Given the description of an element on the screen output the (x, y) to click on. 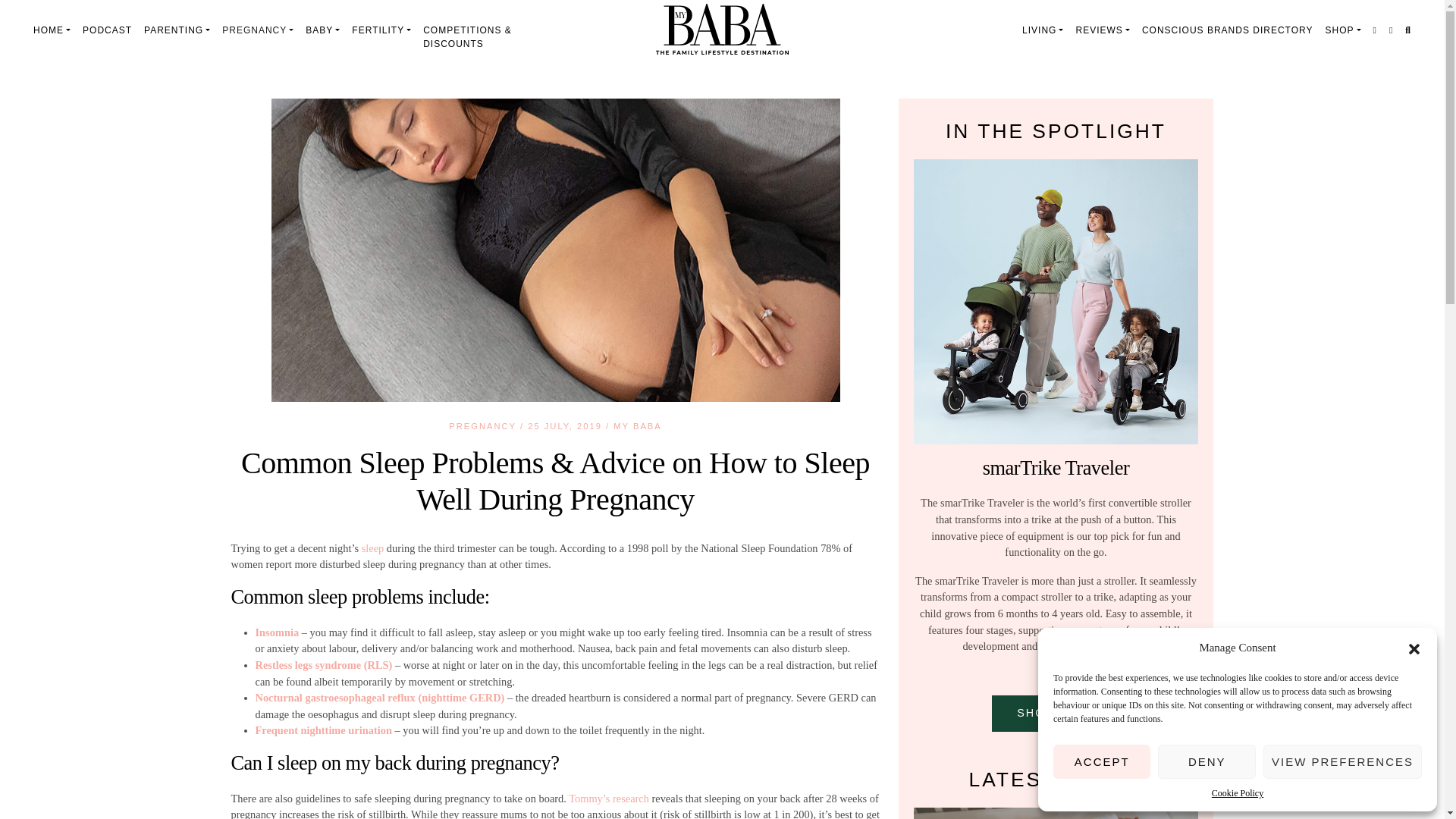
PODCAST (107, 30)
VIEW PREFERENCES (1342, 761)
ACCEPT (1101, 761)
DENY (1206, 761)
PREGNANCY (257, 30)
BABY (322, 30)
PARENTING (176, 30)
HOME (52, 30)
Cookie Policy (1237, 793)
